Given the description of an element on the screen output the (x, y) to click on. 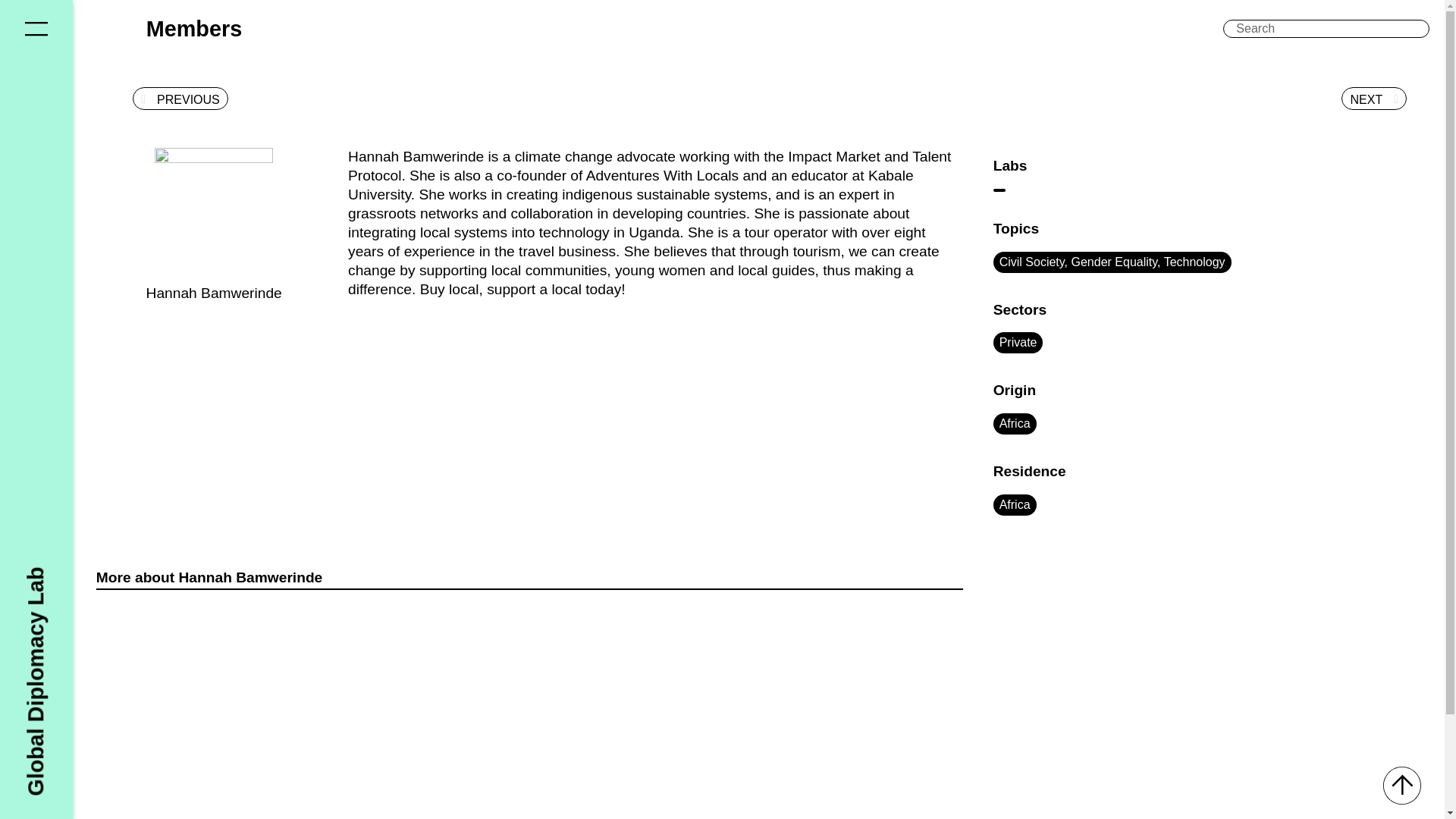
Global Diplomacy Lab (137, 578)
NEXT (1373, 99)
PREVIOUS (180, 99)
